Given the description of an element on the screen output the (x, y) to click on. 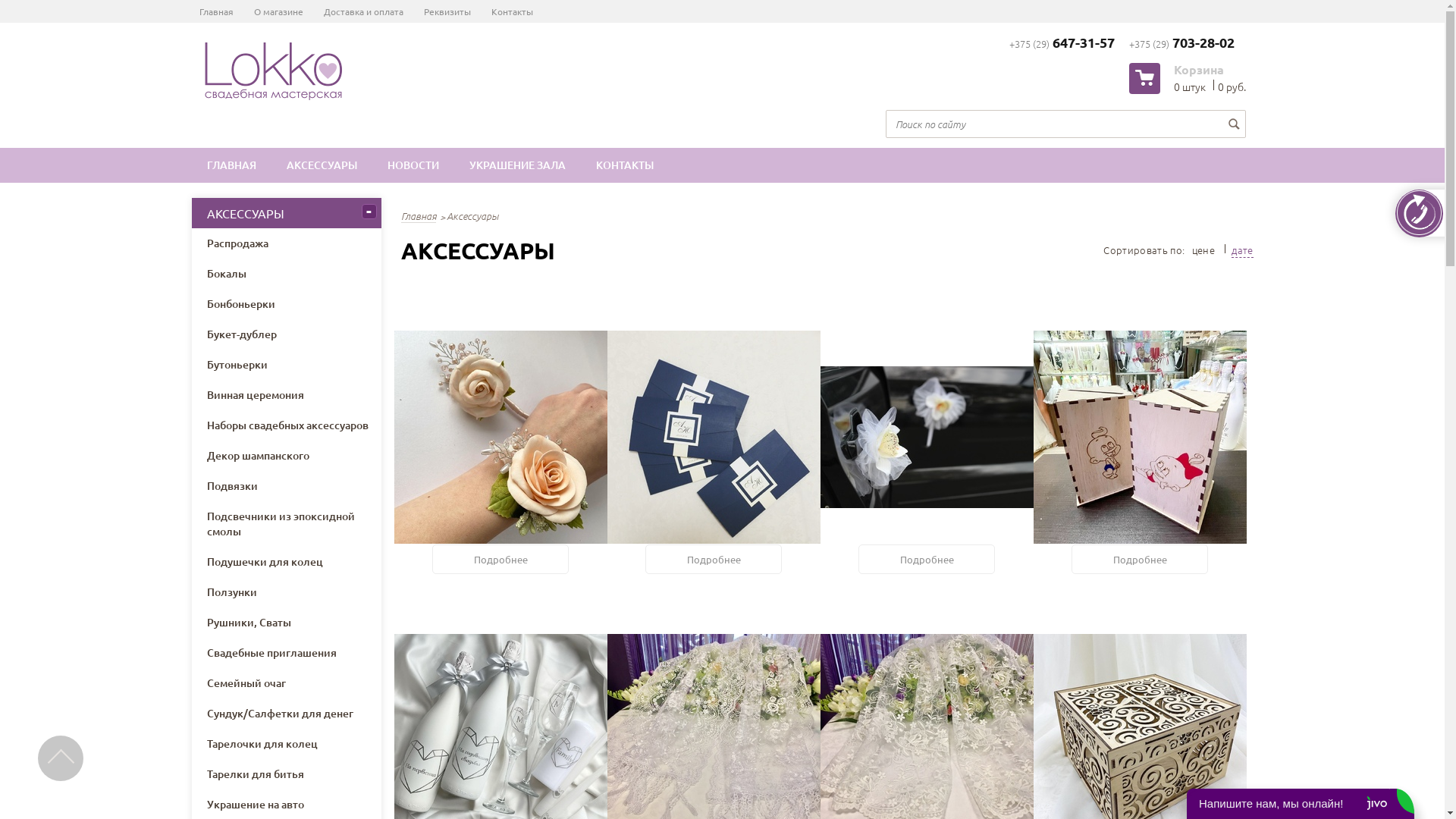
+375 (29)647-31-57 Element type: text (1060, 42)
+375 (29)703-28-02 Element type: text (1180, 42)
